Given the description of an element on the screen output the (x, y) to click on. 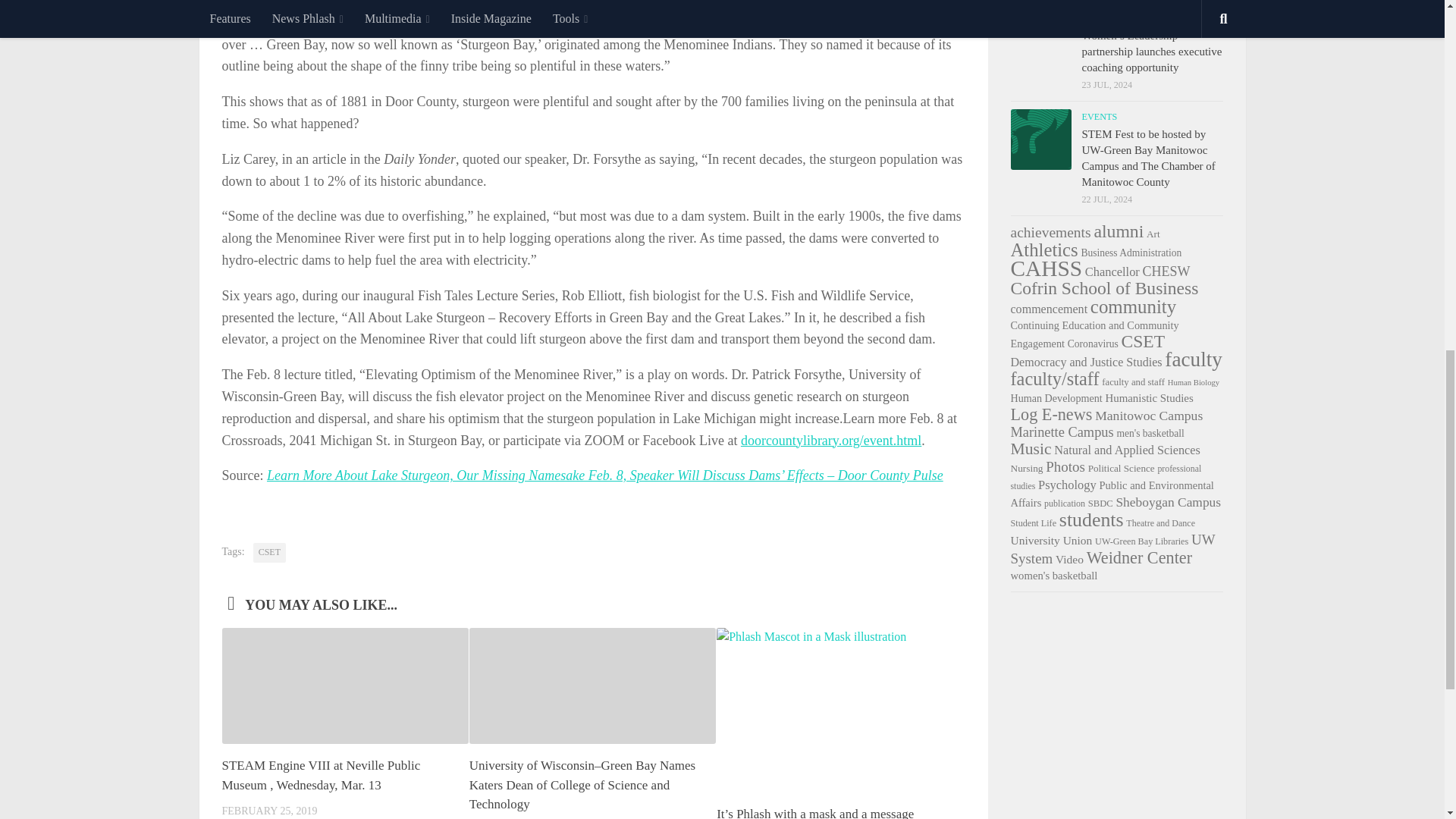
CSET (269, 552)
